Given the description of an element on the screen output the (x, y) to click on. 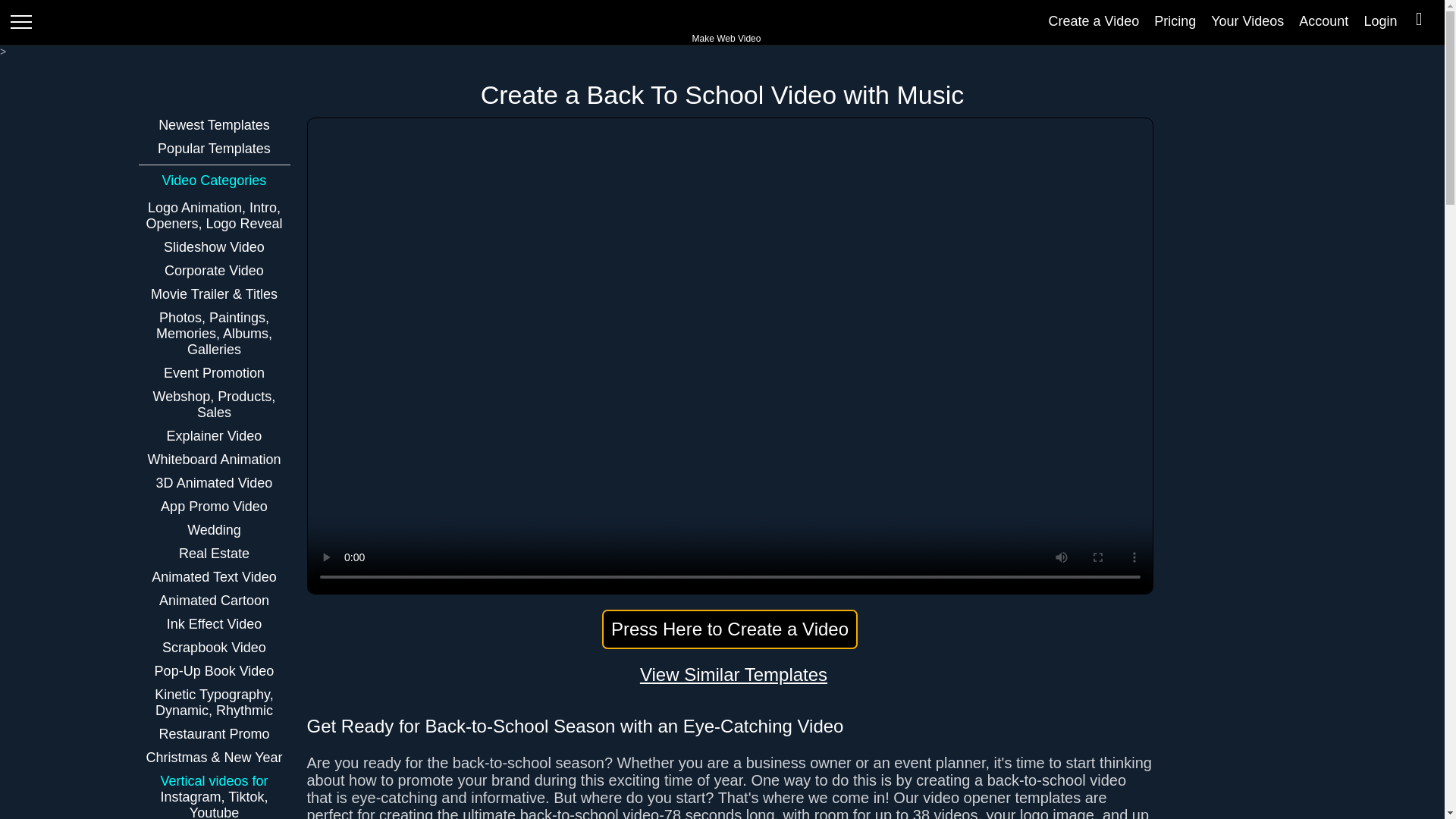
Account (1323, 21)
Create a Video (1093, 21)
Your Videos (1247, 21)
Pricing (1174, 21)
Login (1379, 21)
